Given the description of an element on the screen output the (x, y) to click on. 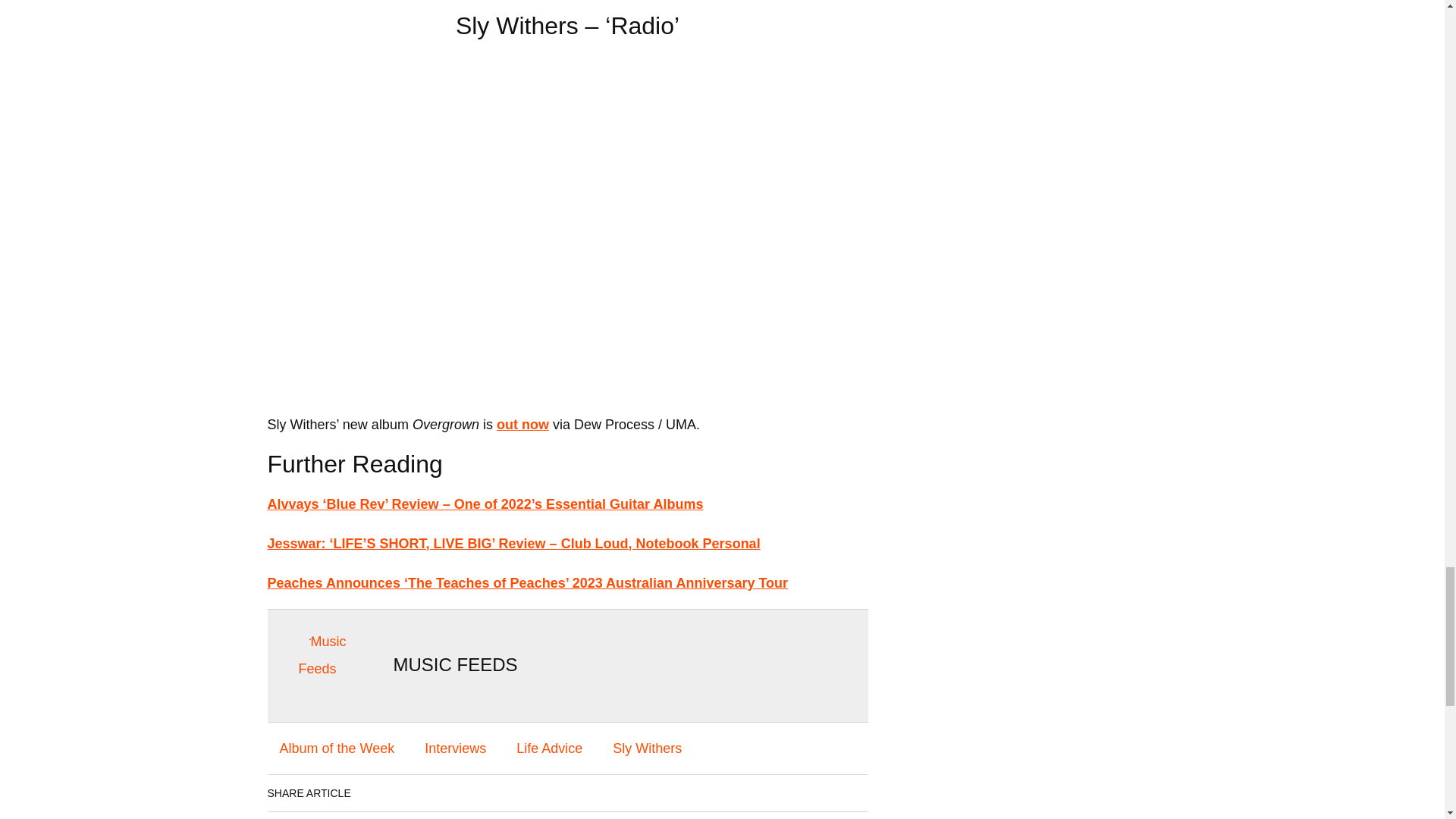
out now (522, 424)
Album of the Week (336, 748)
Life Advice (548, 748)
Interviews (454, 748)
MUSIC FEEDS (454, 664)
